Given the description of an element on the screen output the (x, y) to click on. 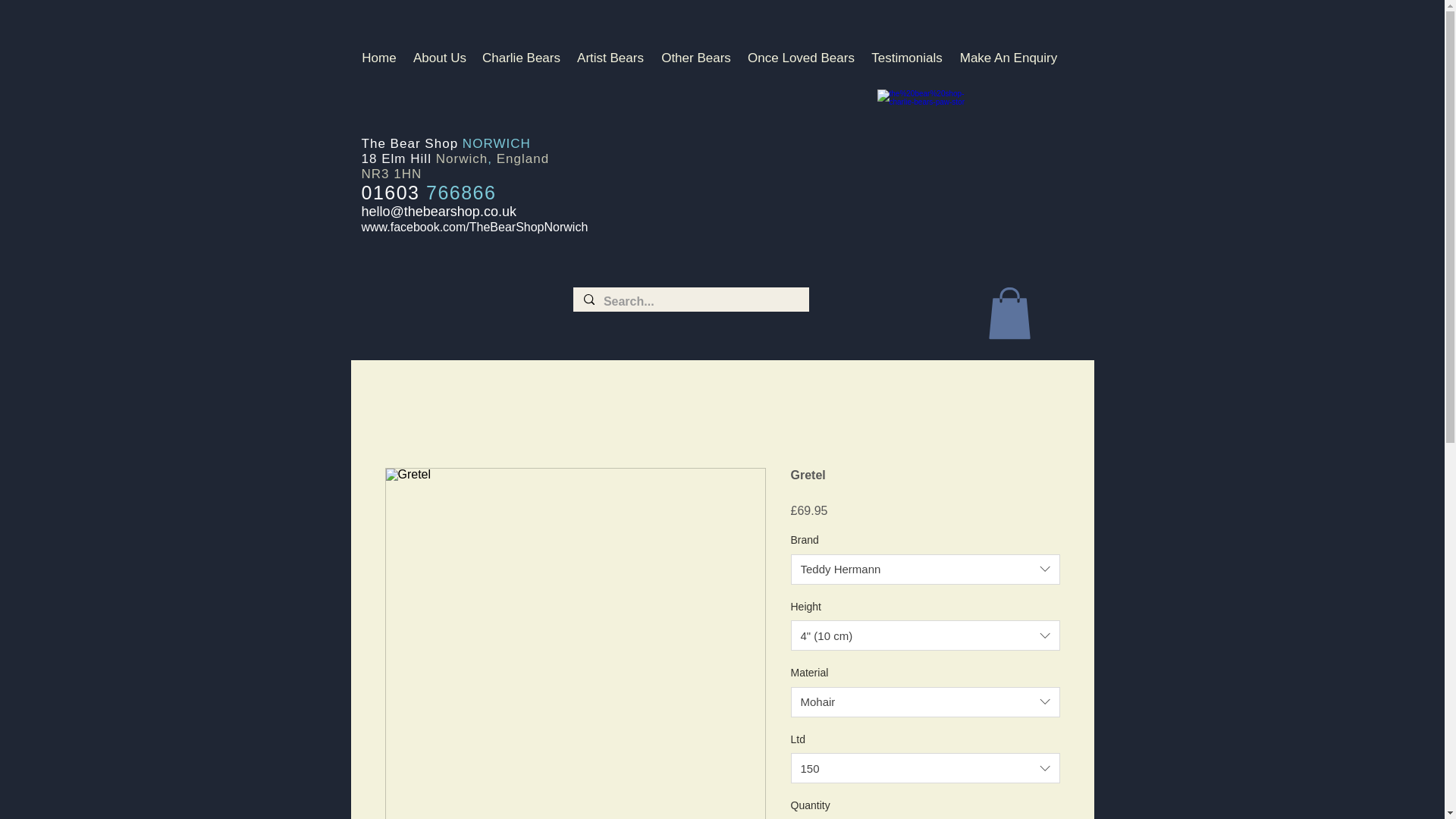
Artist Bears (610, 58)
About Us (439, 58)
Once Loved Bears (801, 58)
Make An Enquiry (1007, 58)
NORWICH (497, 143)
Other Bears (695, 58)
Testimonials (907, 58)
Home (379, 58)
The Bear Shop  (411, 143)
